Given the description of an element on the screen output the (x, y) to click on. 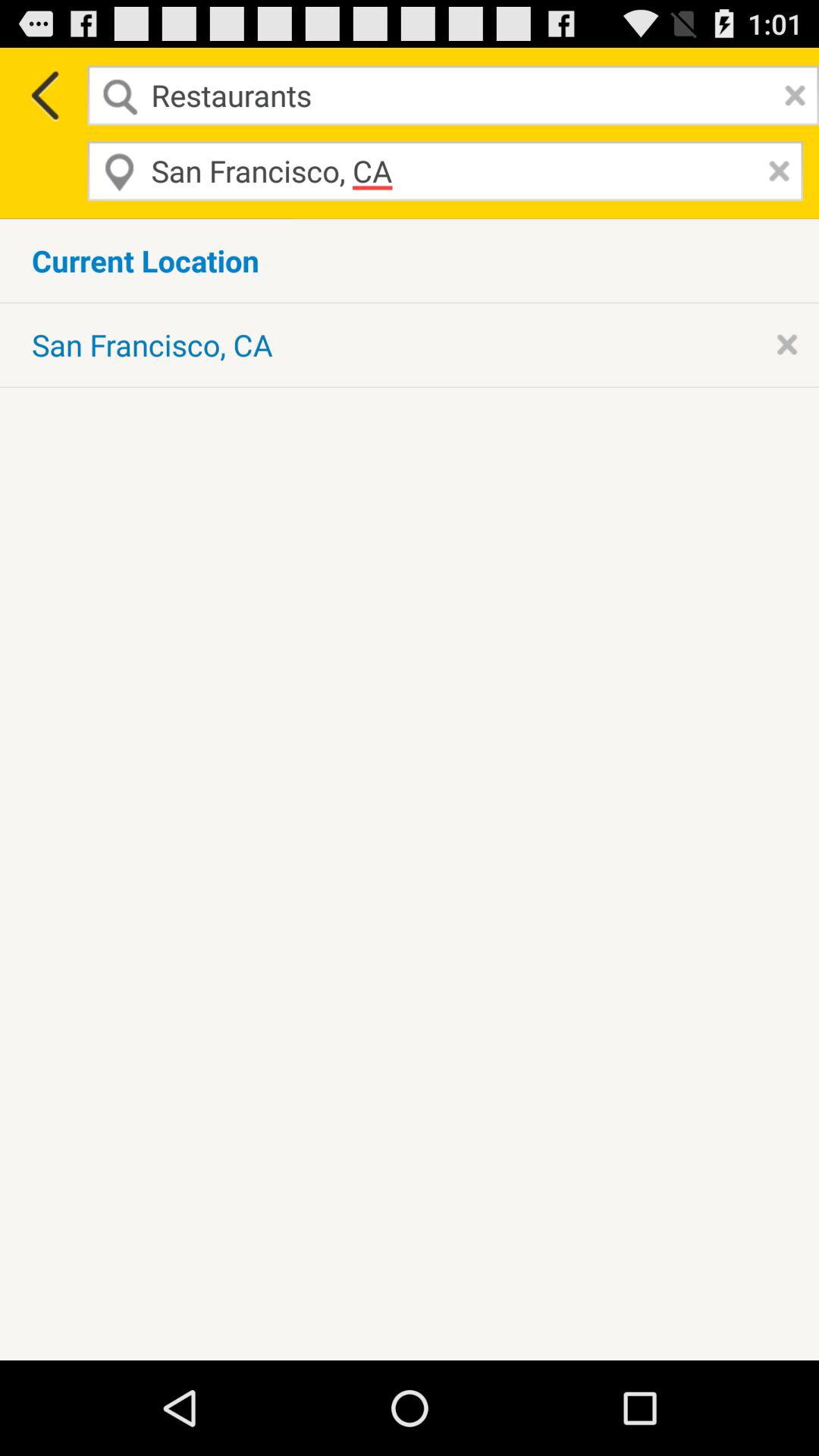
clear search field (791, 95)
